Given the description of an element on the screen output the (x, y) to click on. 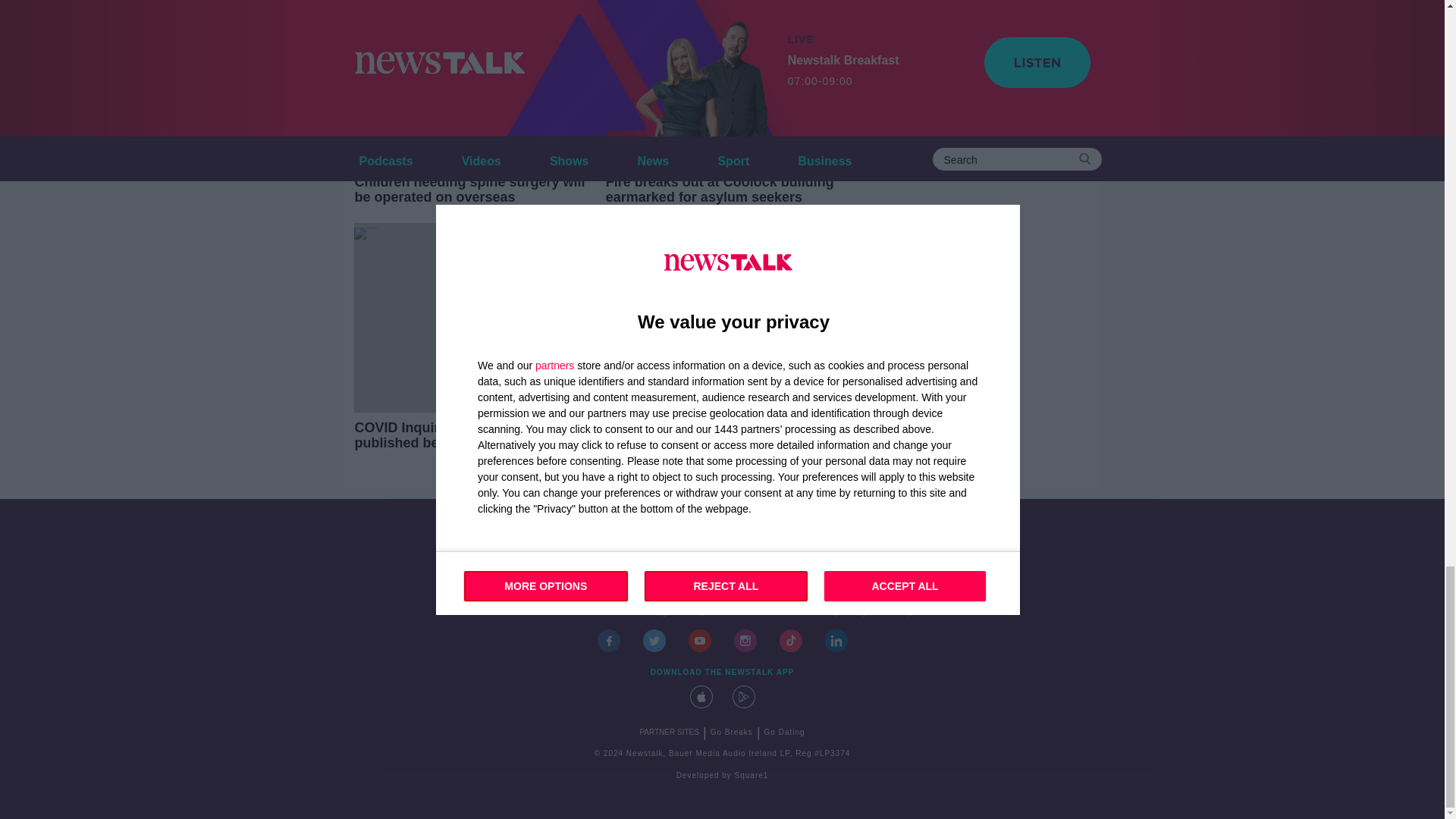
events (592, 612)
Privacy Policy (838, 612)
Privacy (897, 612)
contact (547, 612)
advertising (644, 612)
competitions (708, 612)
site terms (772, 612)
